Given the description of an element on the screen output the (x, y) to click on. 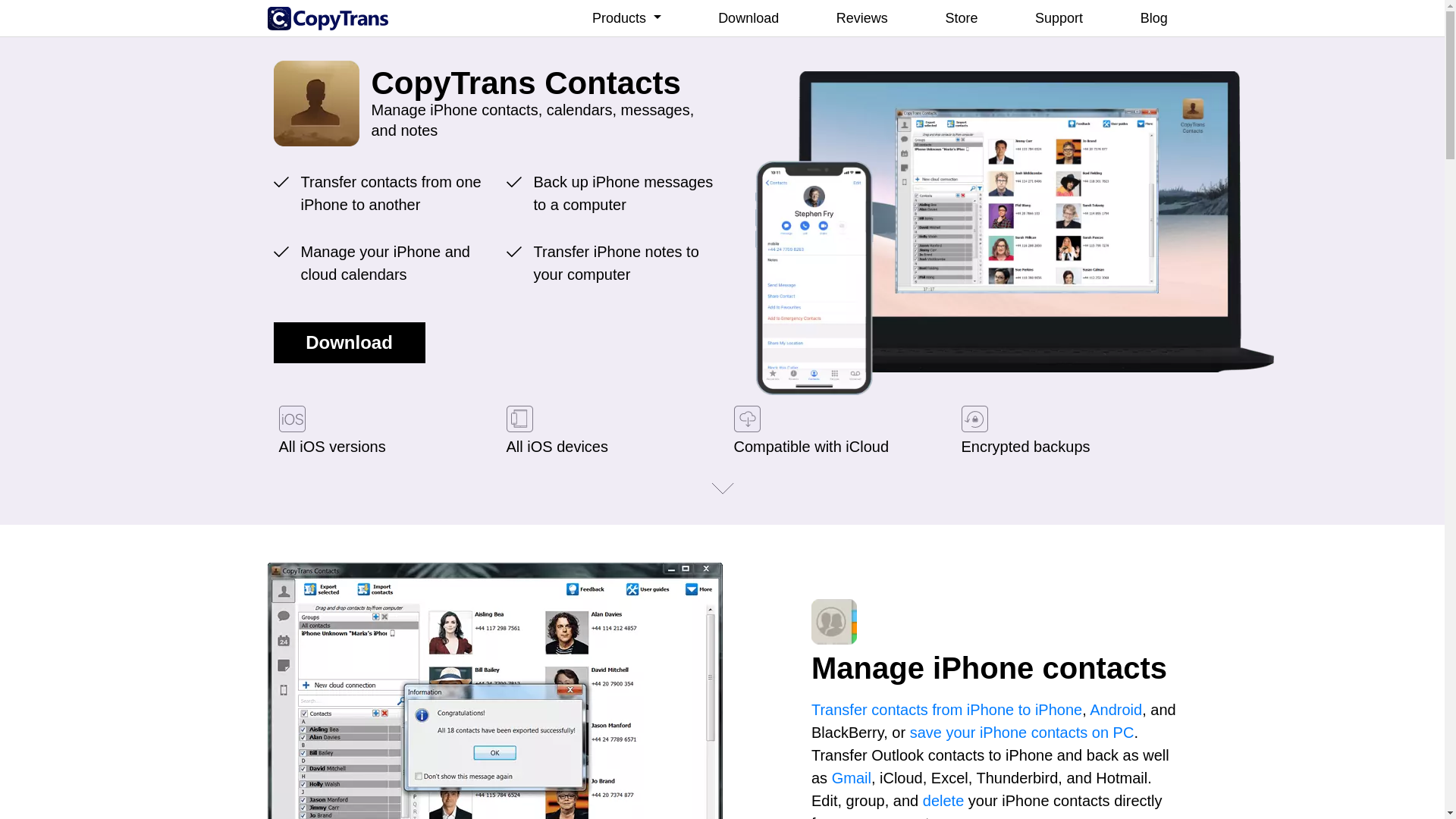
Blog (1154, 18)
Download (748, 18)
Gmail (850, 777)
Store (962, 18)
Products (625, 18)
Android (1115, 709)
Transfer contacts from iPhone to iPhone (945, 709)
Support (1059, 18)
delete (943, 799)
save your iPhone contacts on PC (1022, 731)
Download (349, 342)
Reviews (862, 18)
